Given the description of an element on the screen output the (x, y) to click on. 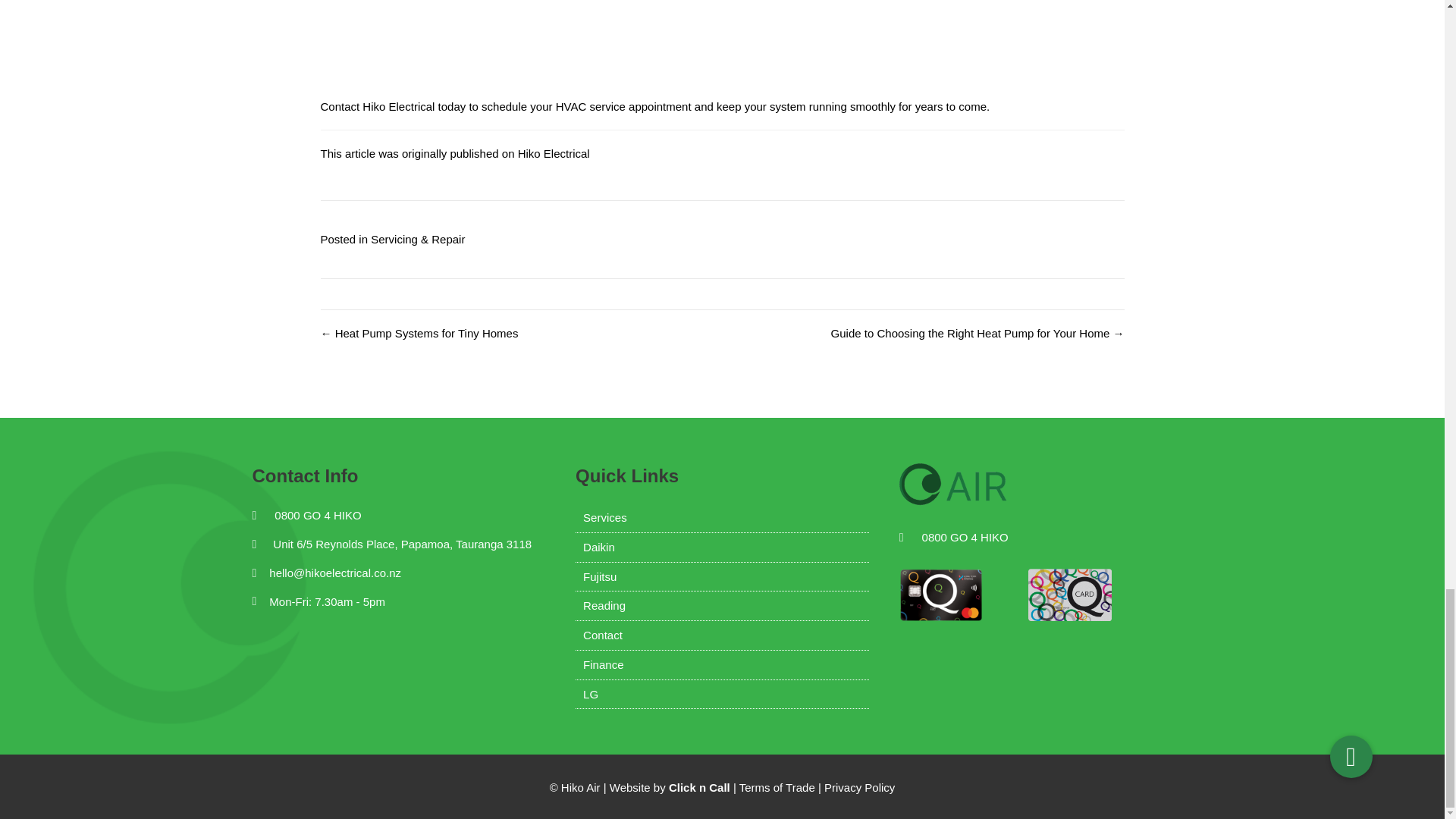
Qcard (1069, 594)
AIR (975, 486)
Q Mastercard CC (940, 594)
